Given the description of an element on the screen output the (x, y) to click on. 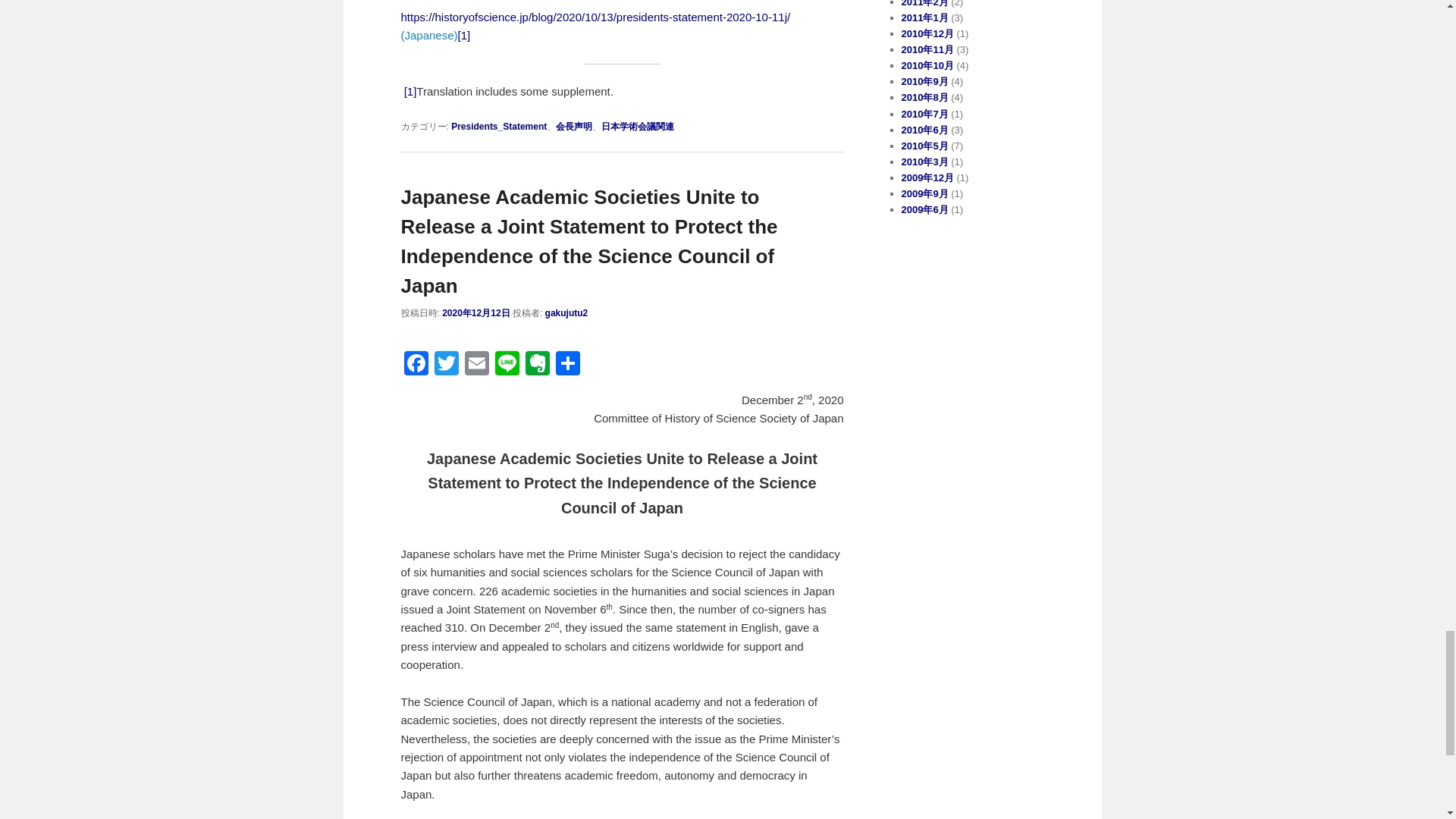
9:01 AM (475, 312)
